Given the description of an element on the screen output the (x, y) to click on. 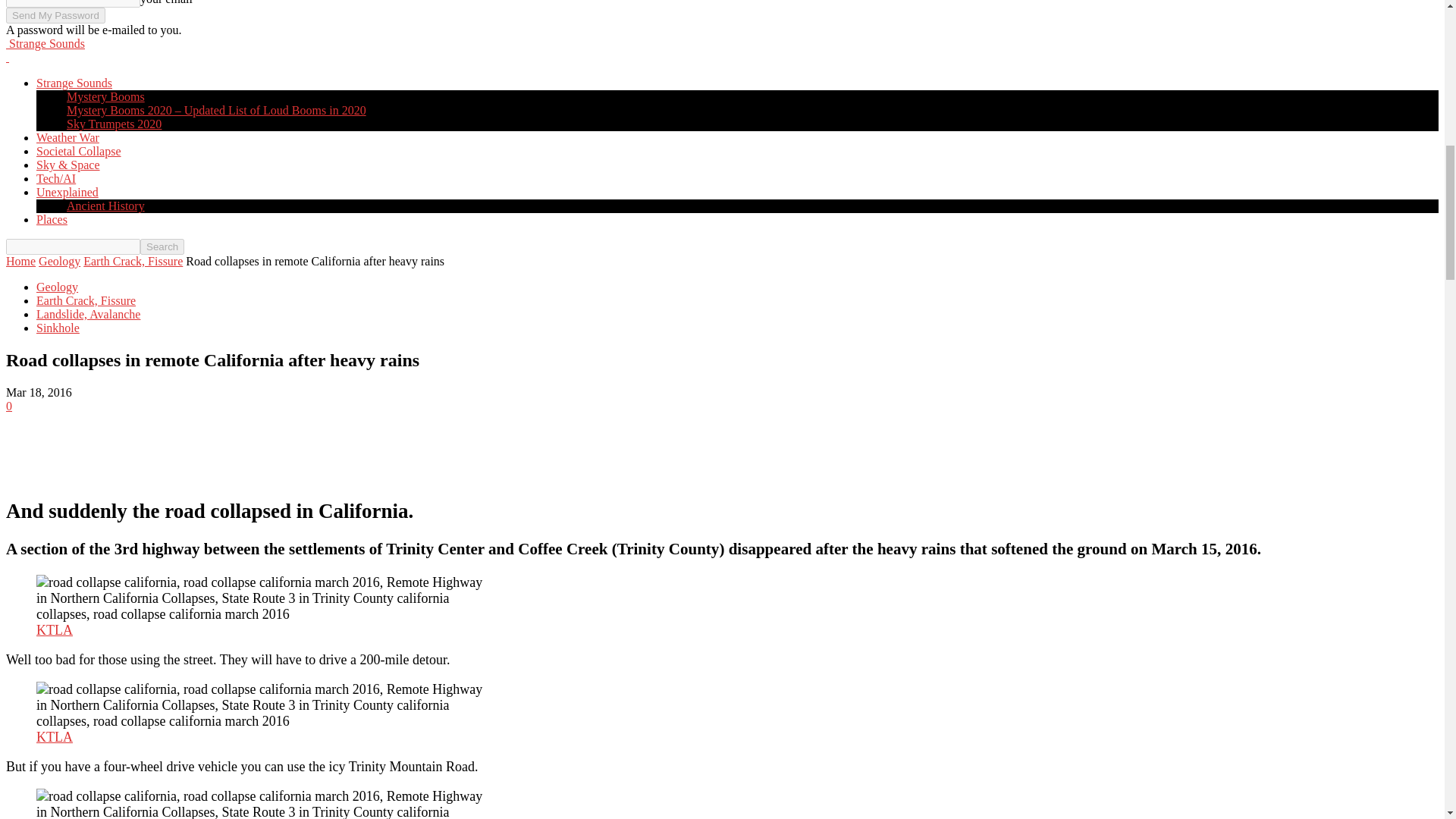
Search (161, 246)
Strange Sounds (44, 42)
Send My Password (54, 15)
